Given the description of an element on the screen output the (x, y) to click on. 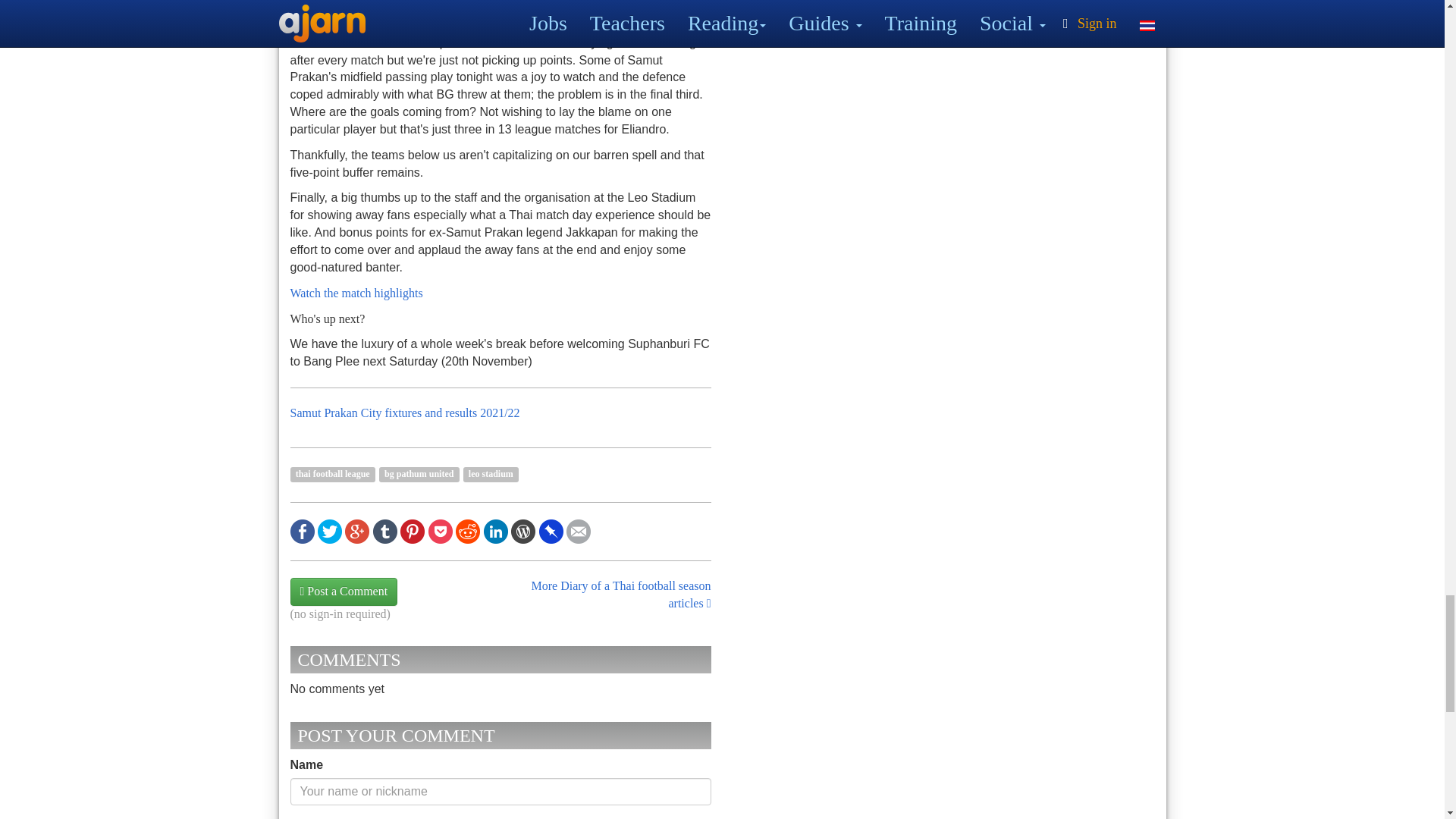
Pin it (412, 529)
Share on Twitter (329, 529)
Post to Tumblr (384, 529)
Share on Facebook (301, 529)
Add to Pocket (440, 529)
